Given the description of an element on the screen output the (x, y) to click on. 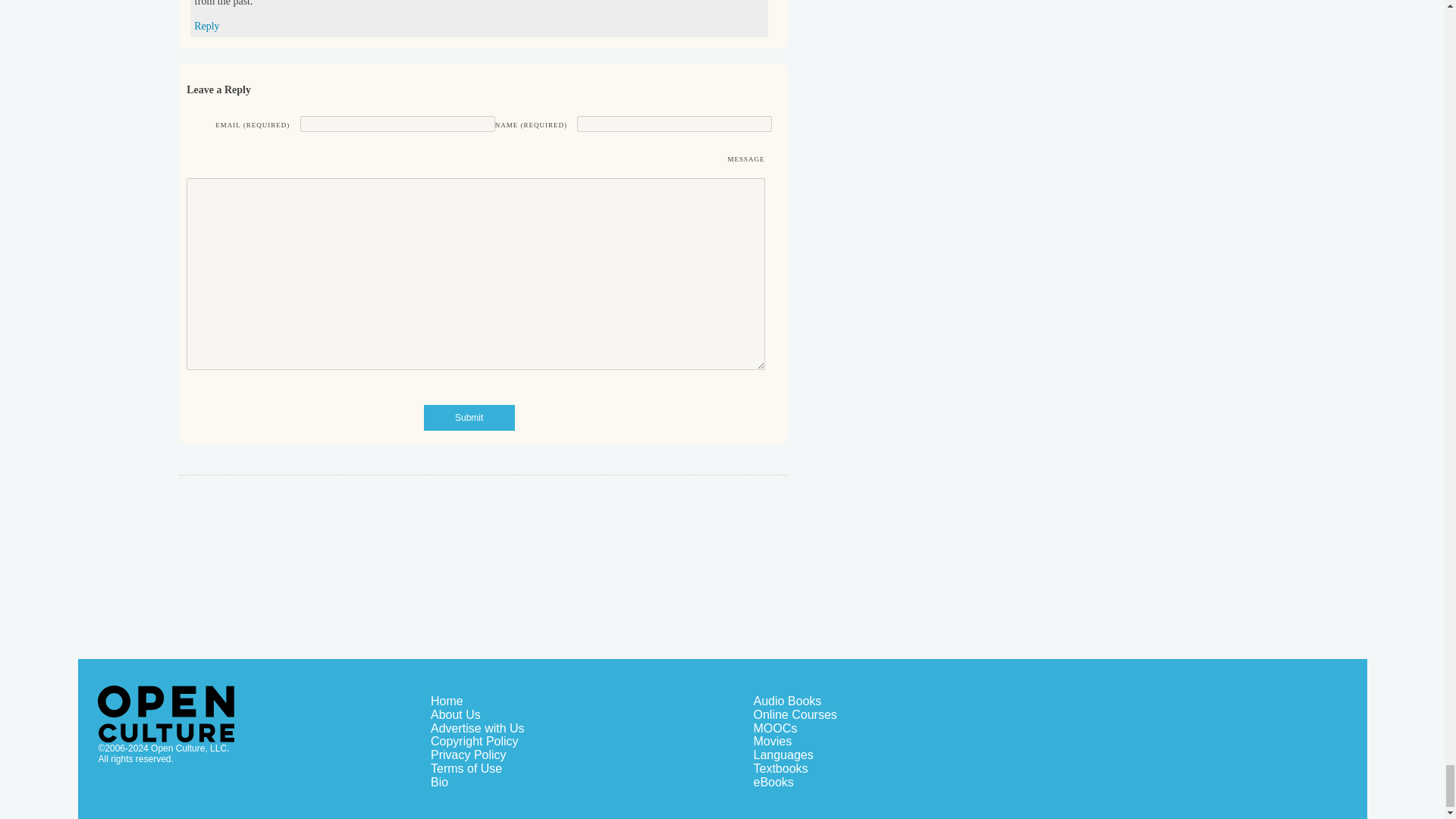
Submit (469, 417)
